Given the description of an element on the screen output the (x, y) to click on. 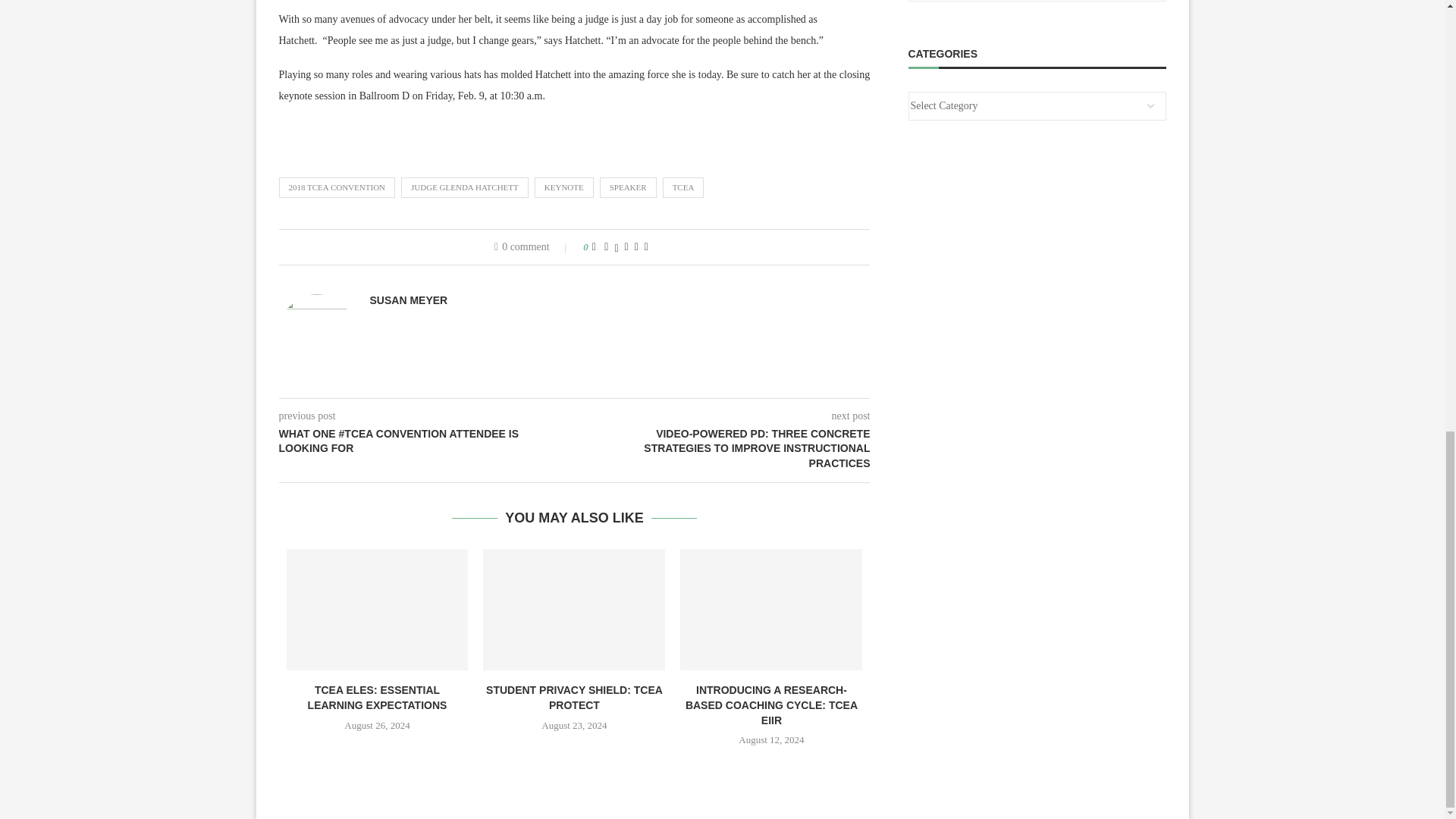
Introducing a Research-Based Coaching Cycle: TCEA EIIR (770, 609)
KEYNOTE (564, 187)
2018 TCEA CONVENTION (337, 187)
JUDGE GLENDA HATCHETT (464, 187)
Author Susan Meyer (408, 300)
TCEA ELEs: Essential Learning Expectations (377, 609)
SPEAKER (627, 187)
Student Privacy Shield: TCEA PROTECT (574, 609)
